Given the description of an element on the screen output the (x, y) to click on. 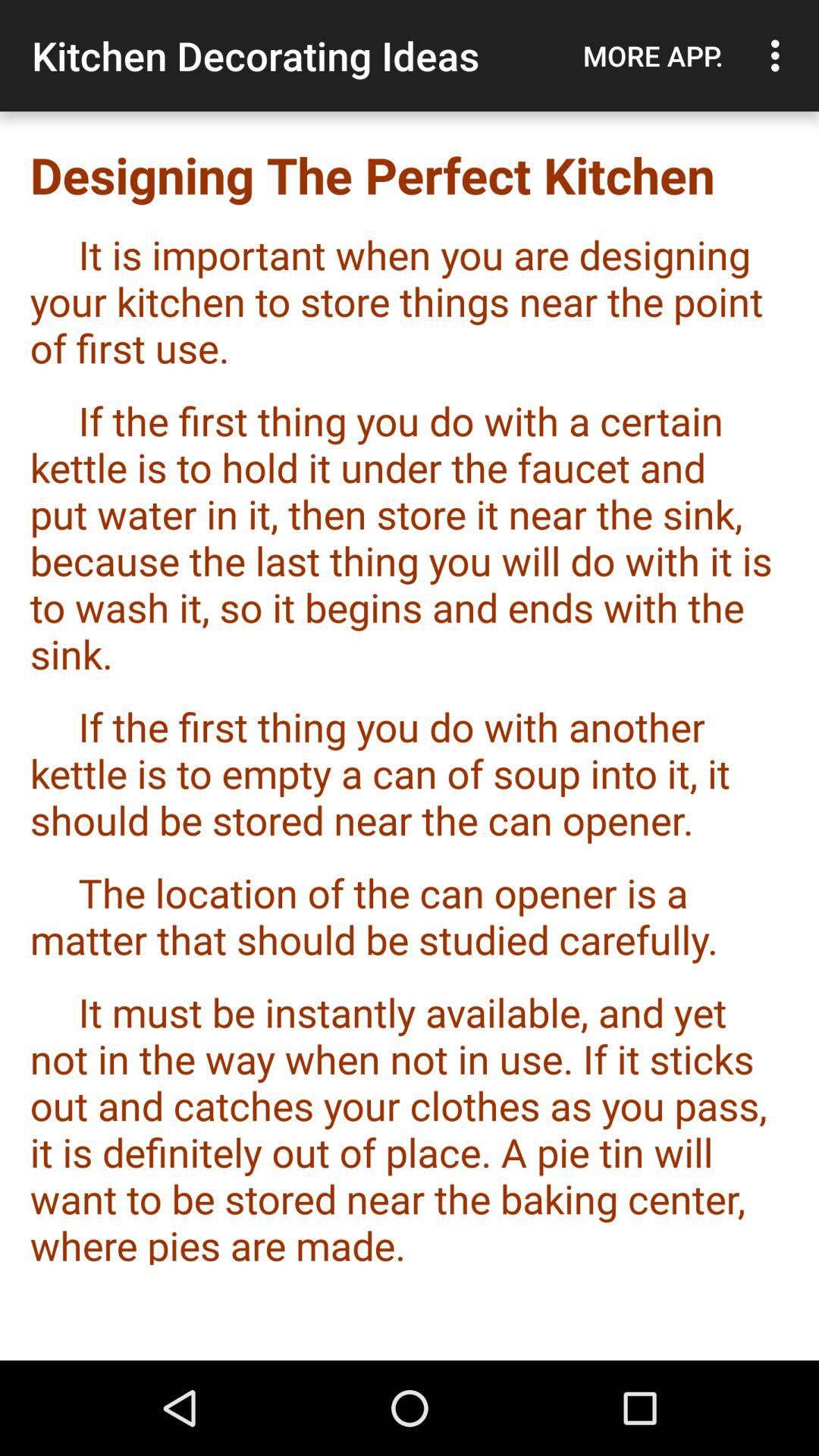
tap the icon to the right of the more app. (779, 55)
